Given the description of an element on the screen output the (x, y) to click on. 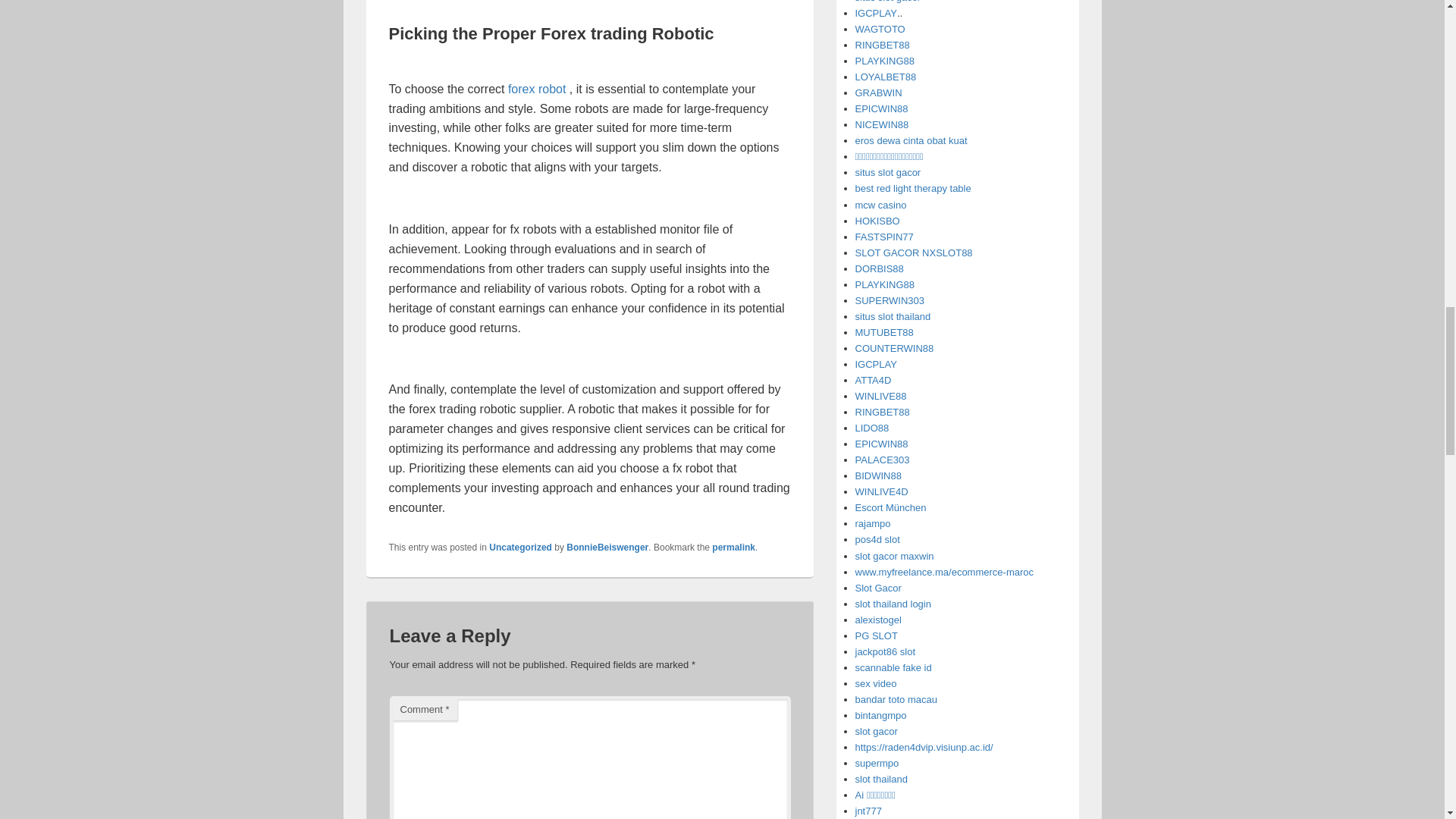
forex robot (537, 88)
permalink (733, 547)
BonnieBeiswenger (606, 547)
Uncategorized (520, 547)
